Given the description of an element on the screen output the (x, y) to click on. 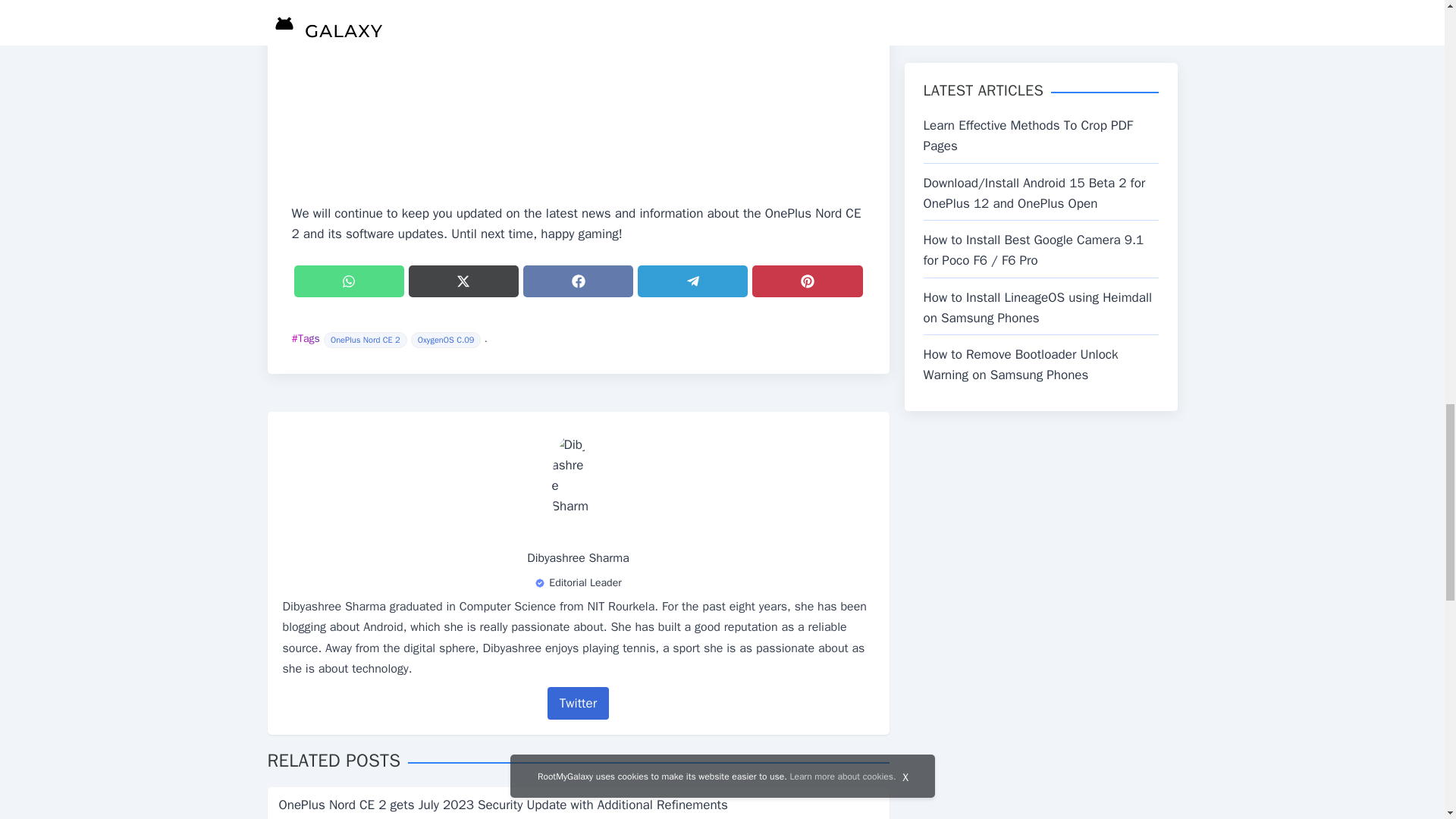
Share on Telegram (692, 281)
Share on Pinterest (806, 281)
Advertisement (577, 101)
Share on WhatsApp (349, 281)
OxygenOS C.09 (445, 340)
OnePlus Nord CE 2 (365, 340)
Share on Facebook (577, 281)
